Given the description of an element on the screen output the (x, y) to click on. 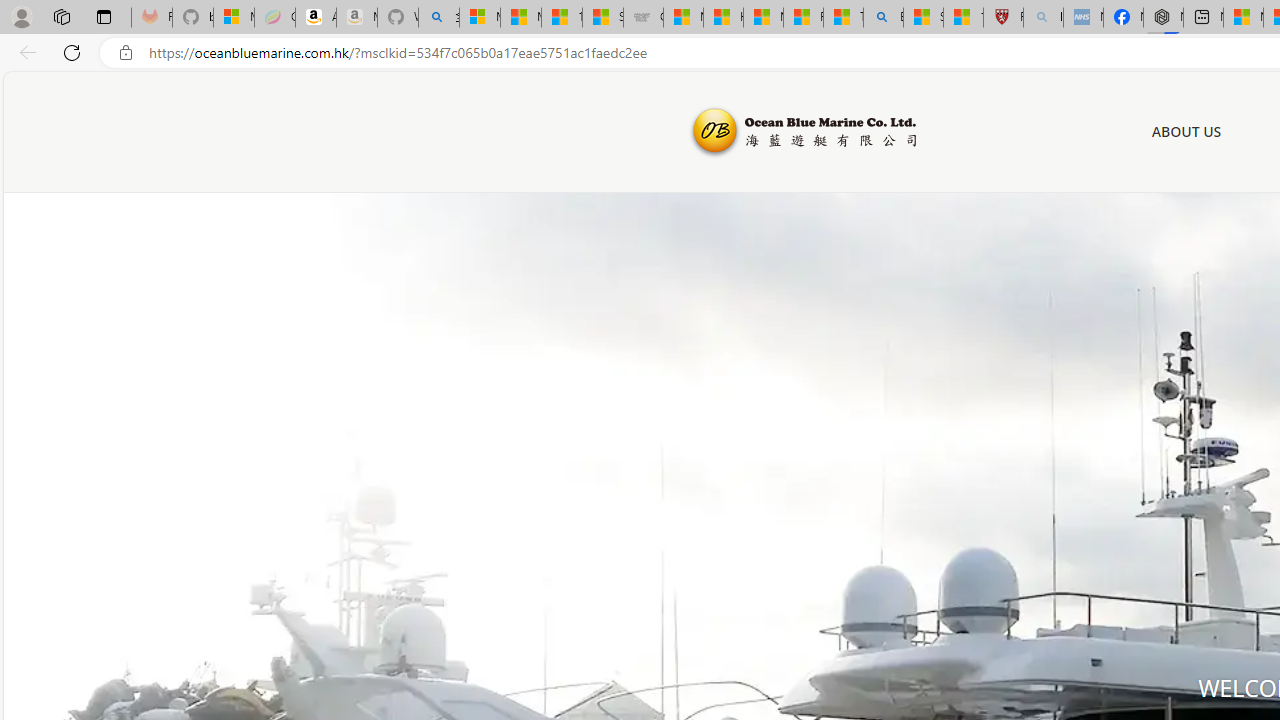
ABOUT US (1186, 131)
Ocean Blue Marine (801, 132)
Ocean Blue Marine (801, 132)
